Given the description of an element on the screen output the (x, y) to click on. 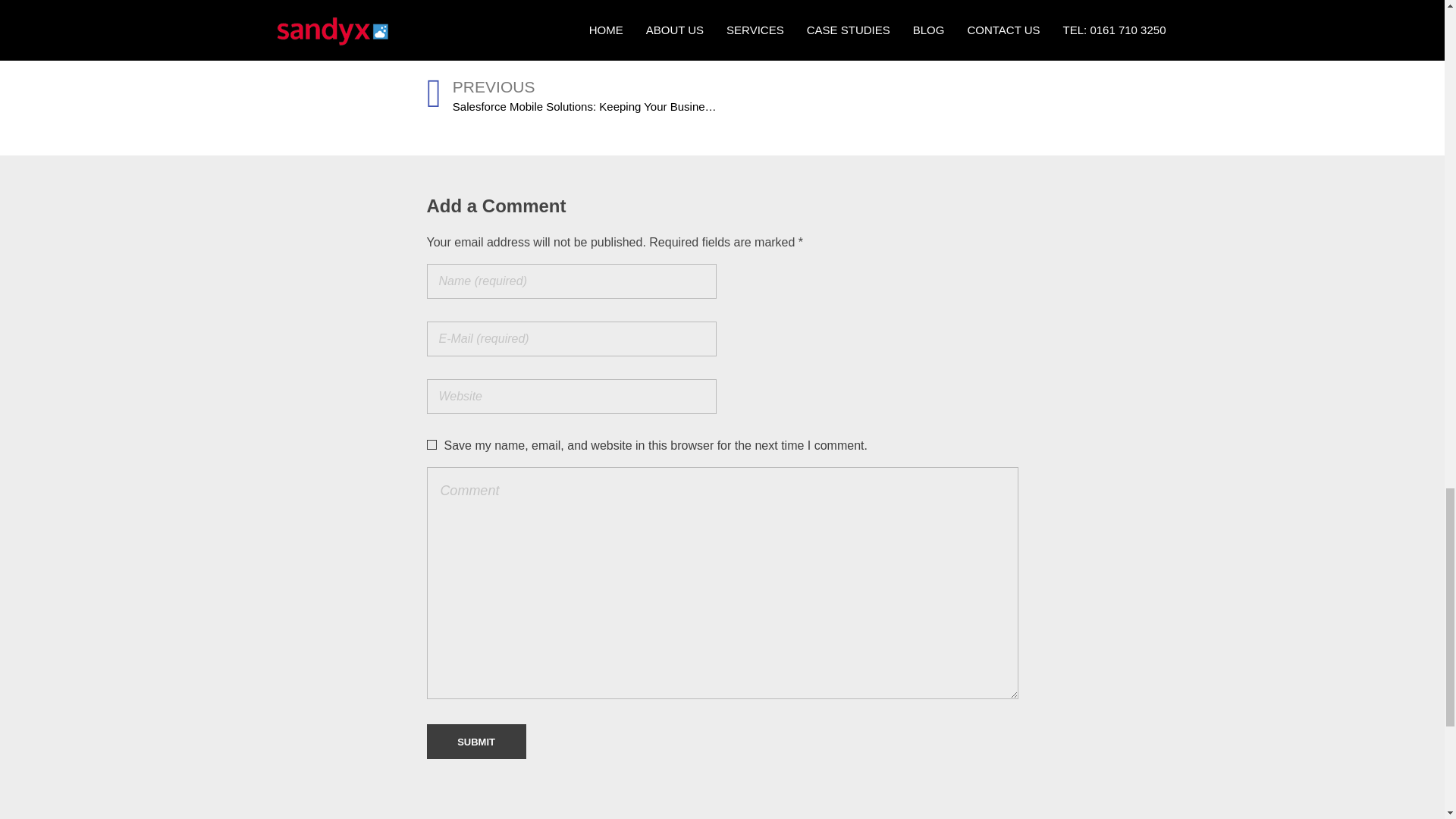
Submit (475, 741)
Submit (475, 741)
yes (430, 444)
